Given the description of an element on the screen output the (x, y) to click on. 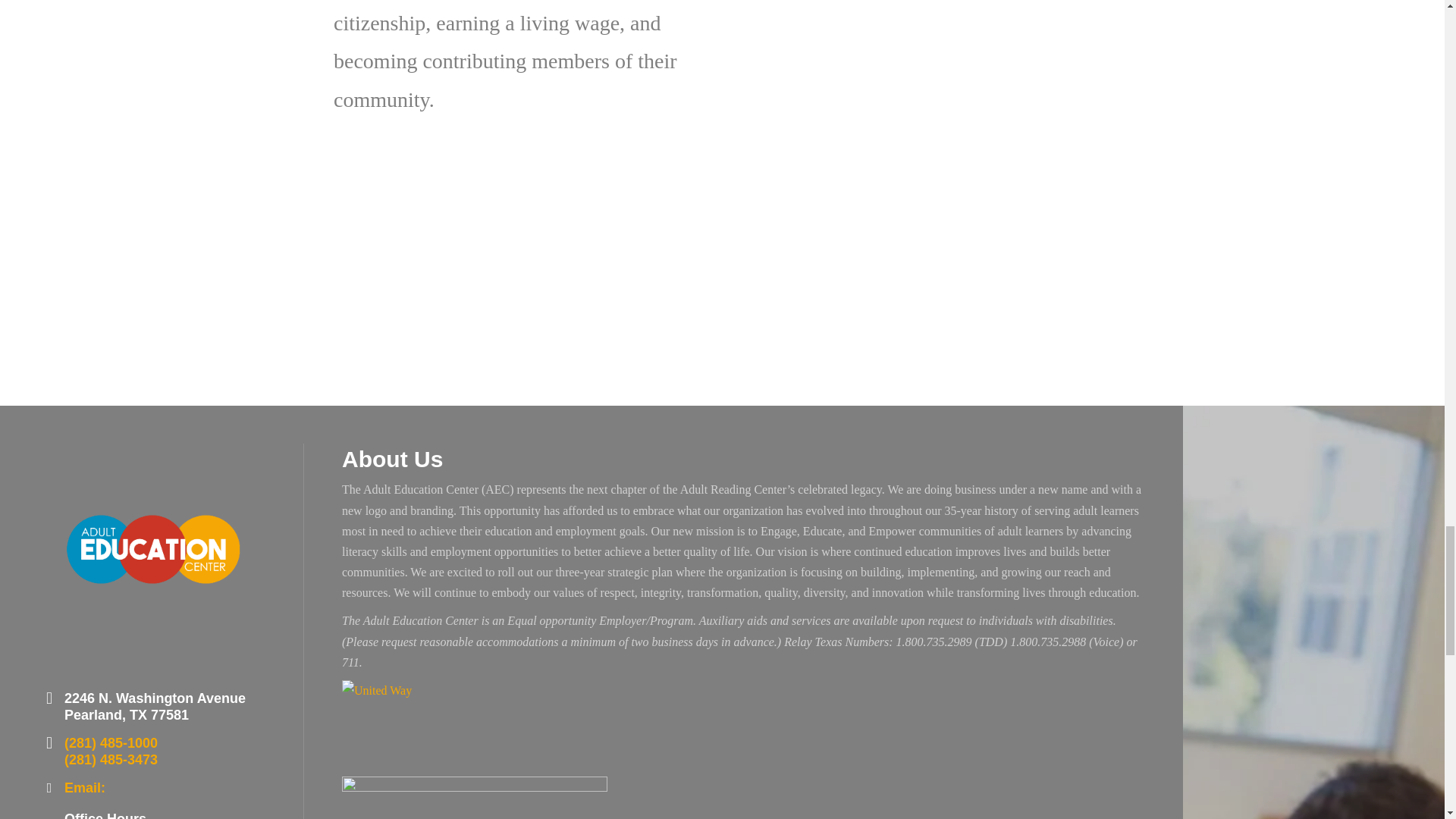
logo (150, 556)
